Given the description of an element on the screen output the (x, y) to click on. 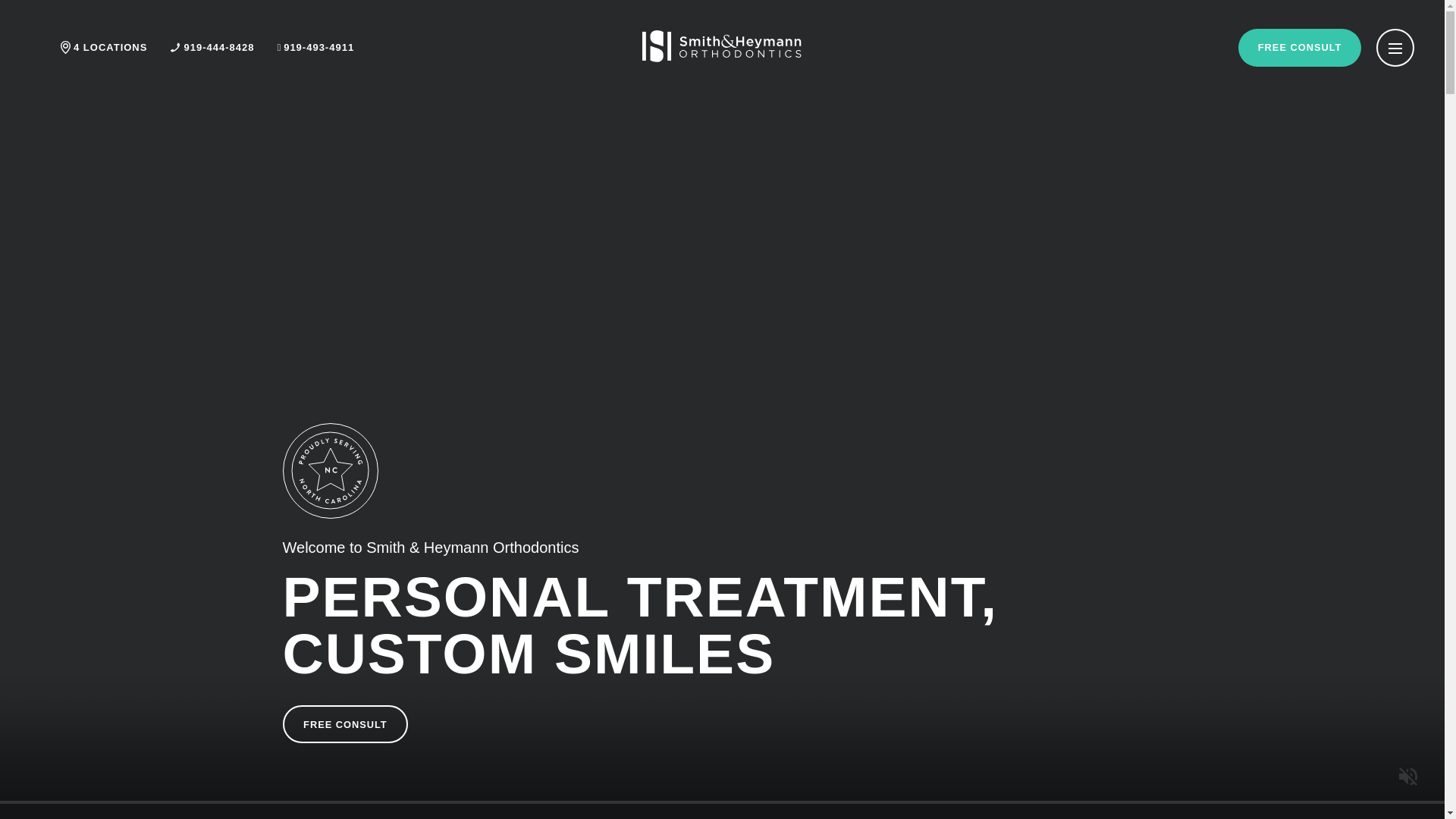
919-493-4911 (314, 46)
Call us (211, 46)
4 LOCATIONS (104, 46)
FREE CONSULT (1300, 47)
919-444-8428 (211, 46)
Group 30 Copy (722, 46)
Our Locations (104, 46)
Group 30 Copy (722, 57)
